Given the description of an element on the screen output the (x, y) to click on. 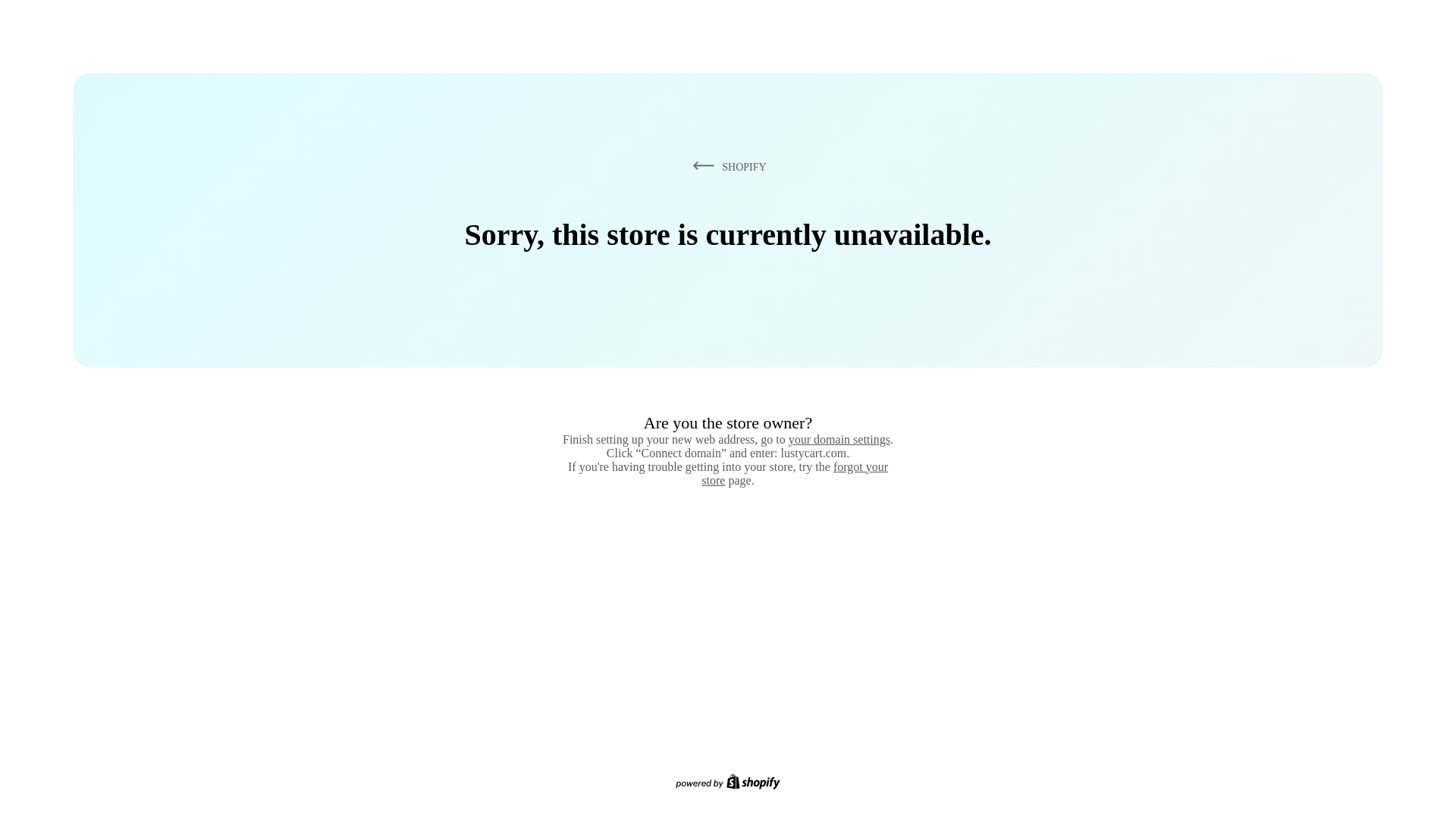
SHOPIFY (726, 166)
your domain settings (839, 439)
forgot your store (794, 473)
